Given the description of an element on the screen output the (x, y) to click on. 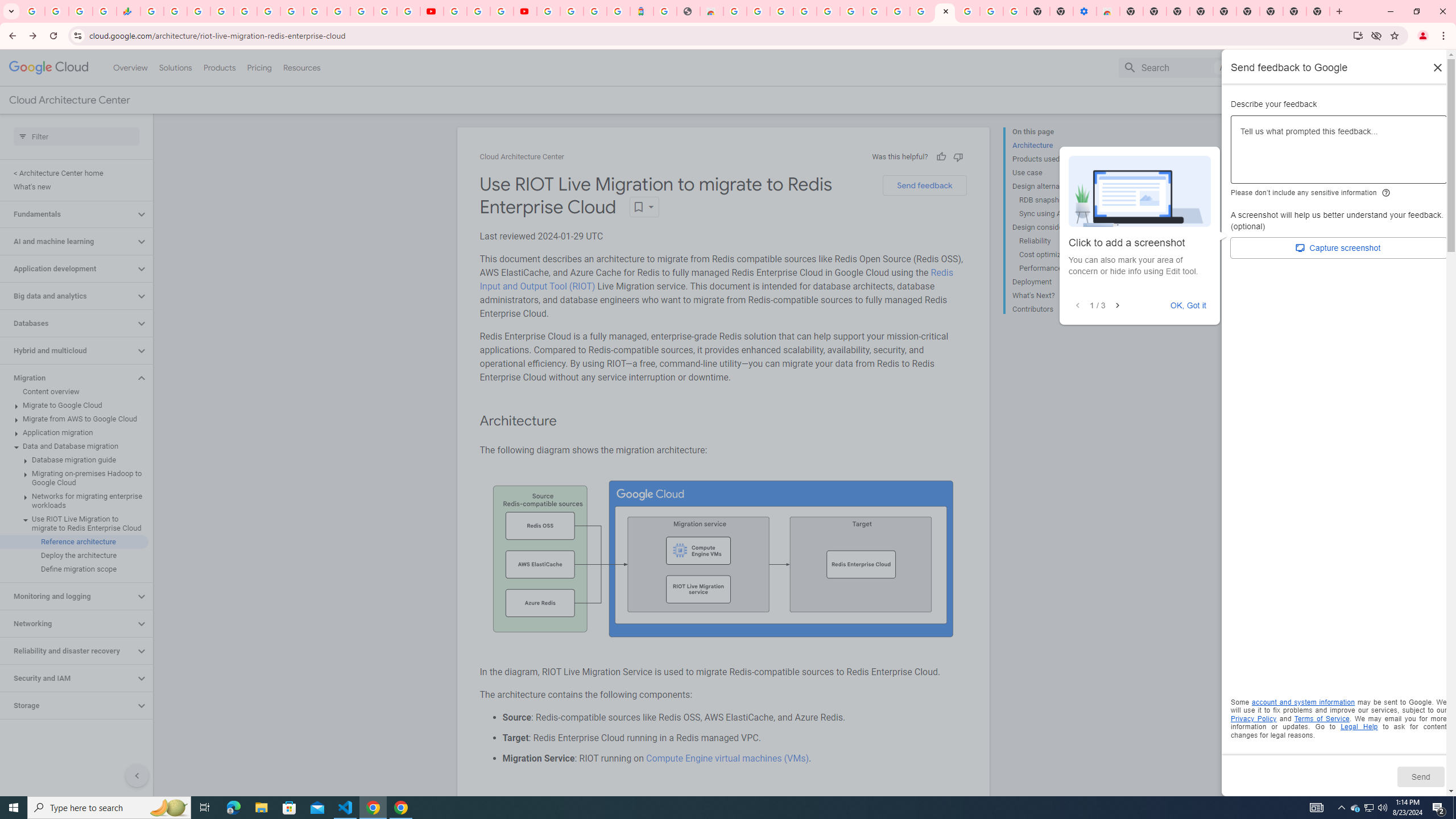
Google Account Help (478, 11)
Previous (1078, 305)
Google Account Help (992, 11)
Open dropdown (643, 206)
New Tab (1318, 11)
Deployment (1058, 282)
Settings - Accessibility (1085, 11)
Monitoring and logging (67, 596)
Pricing (259, 67)
Hybrid and multicloud (67, 350)
Redis Input and Output Tool (RIOT) (716, 278)
Android TV Policies and Guidelines - Transparency Center (291, 11)
What's Next? (1058, 295)
Design considerations (1058, 227)
